Given the description of an element on the screen output the (x, y) to click on. 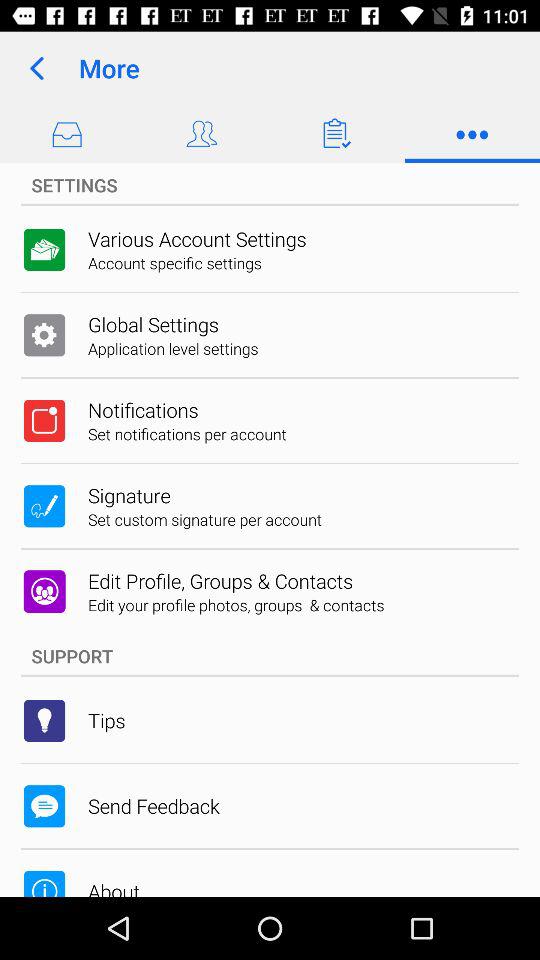
choose about item (113, 887)
